Given the description of an element on the screen output the (x, y) to click on. 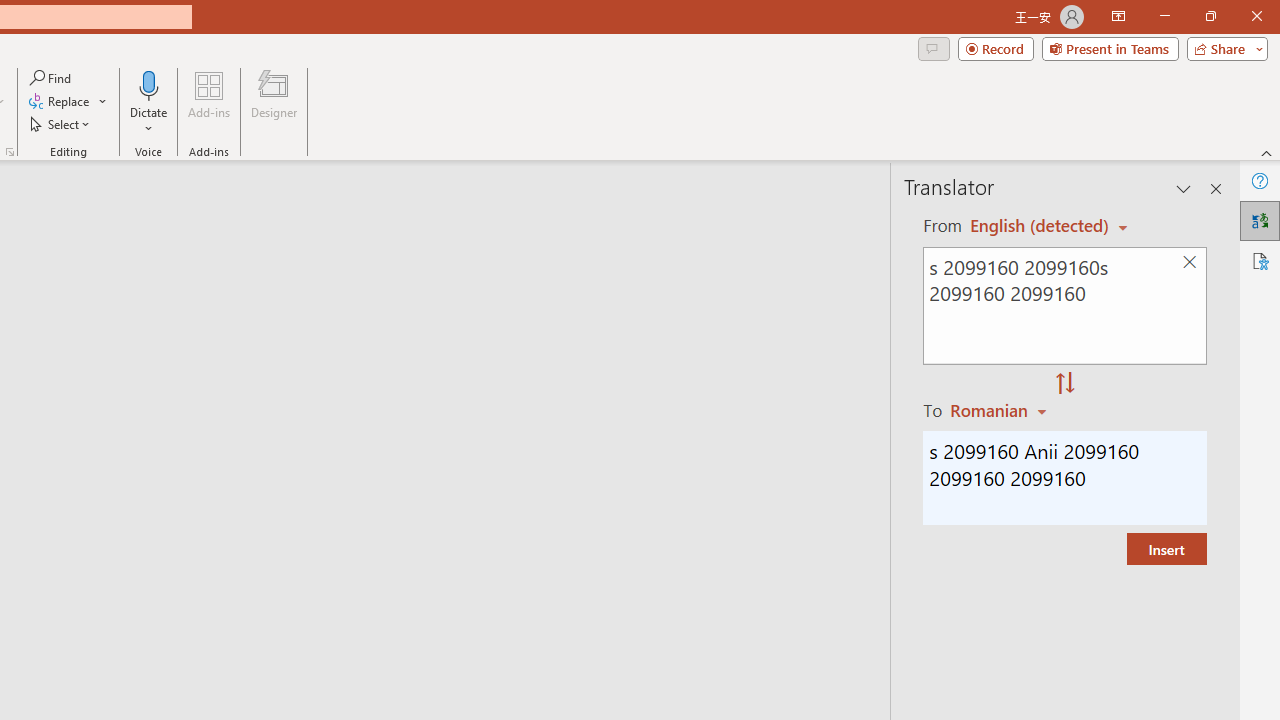
Clear text (1189, 262)
Swap "from" and "to" languages. (1065, 383)
